Given the description of an element on the screen output the (x, y) to click on. 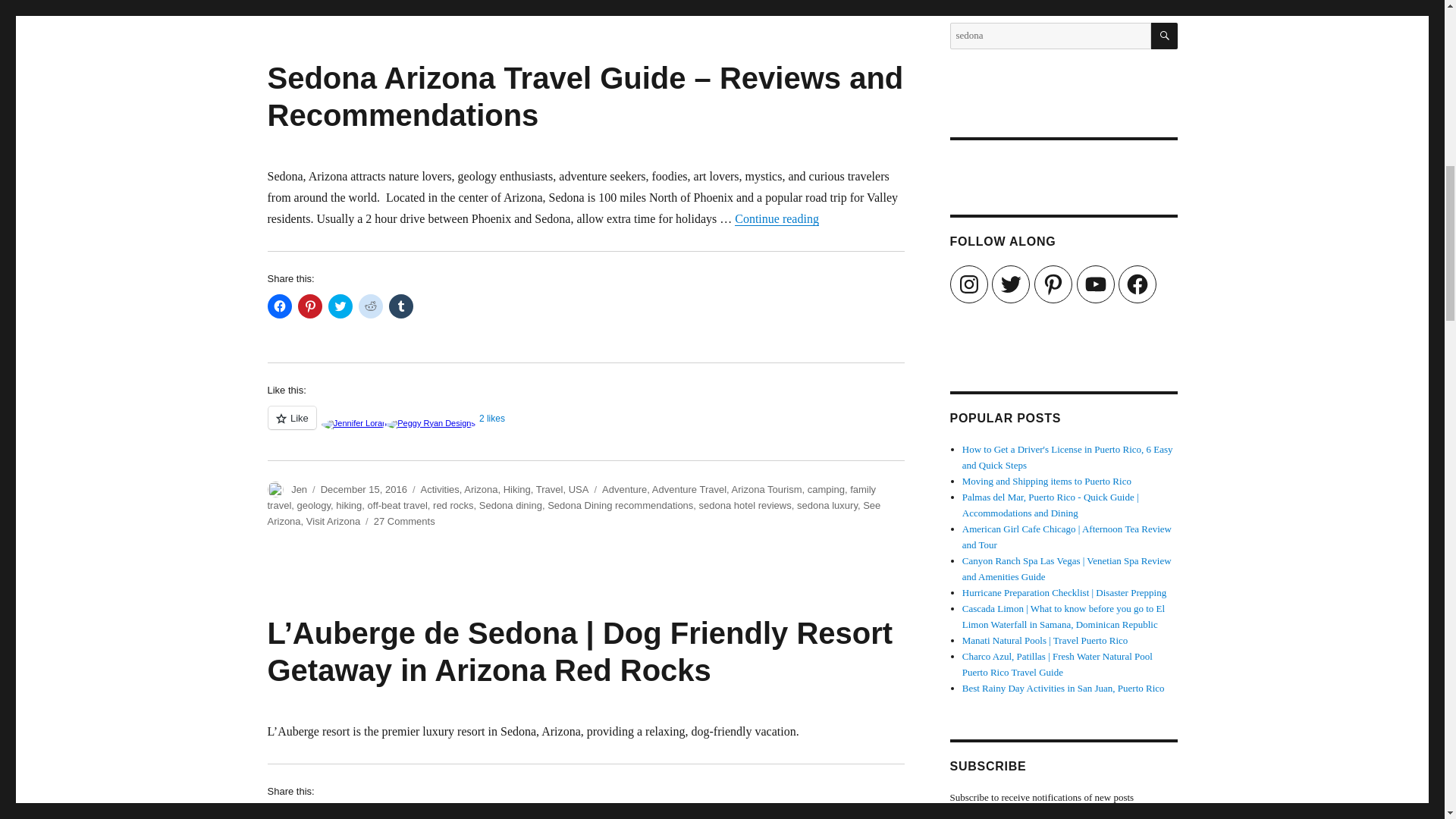
Jen (299, 489)
Click to share on Pinterest (309, 306)
Click to share on Twitter (339, 812)
Click to share on Tumblr (400, 812)
Arizona (480, 489)
December 15, 2016 (363, 489)
Hiking (517, 489)
Travel (549, 489)
Click to share on Tumblr (400, 306)
Click to share on Pinterest (309, 812)
Like or Reblog (585, 426)
sedona (1049, 35)
Activities (440, 489)
sedona (1049, 35)
Click to share on Twitter (339, 306)
